Given the description of an element on the screen output the (x, y) to click on. 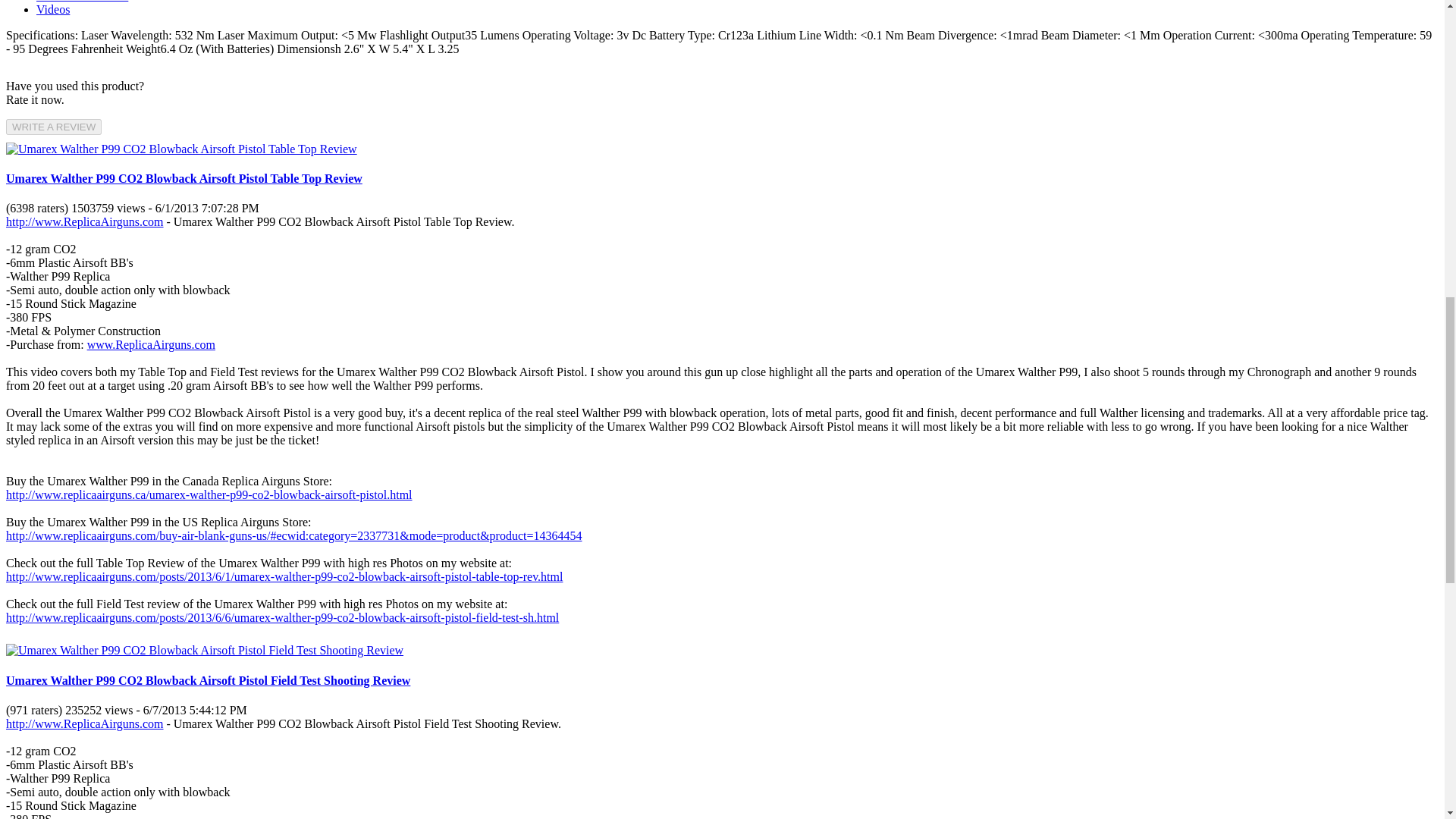
Click to open in a new window or tab (151, 344)
Click to open in a new window or tab (283, 576)
Click to open in a new window or tab (84, 723)
Click to open in a new window or tab (292, 535)
Average Rating 4.68 (38, 207)
Click to open in a new window or tab (282, 617)
Click to open in a new window or tab (208, 494)
Click to open in a new window or tab (84, 221)
Average Rating 4.80 (35, 709)
